Given the description of an element on the screen output the (x, y) to click on. 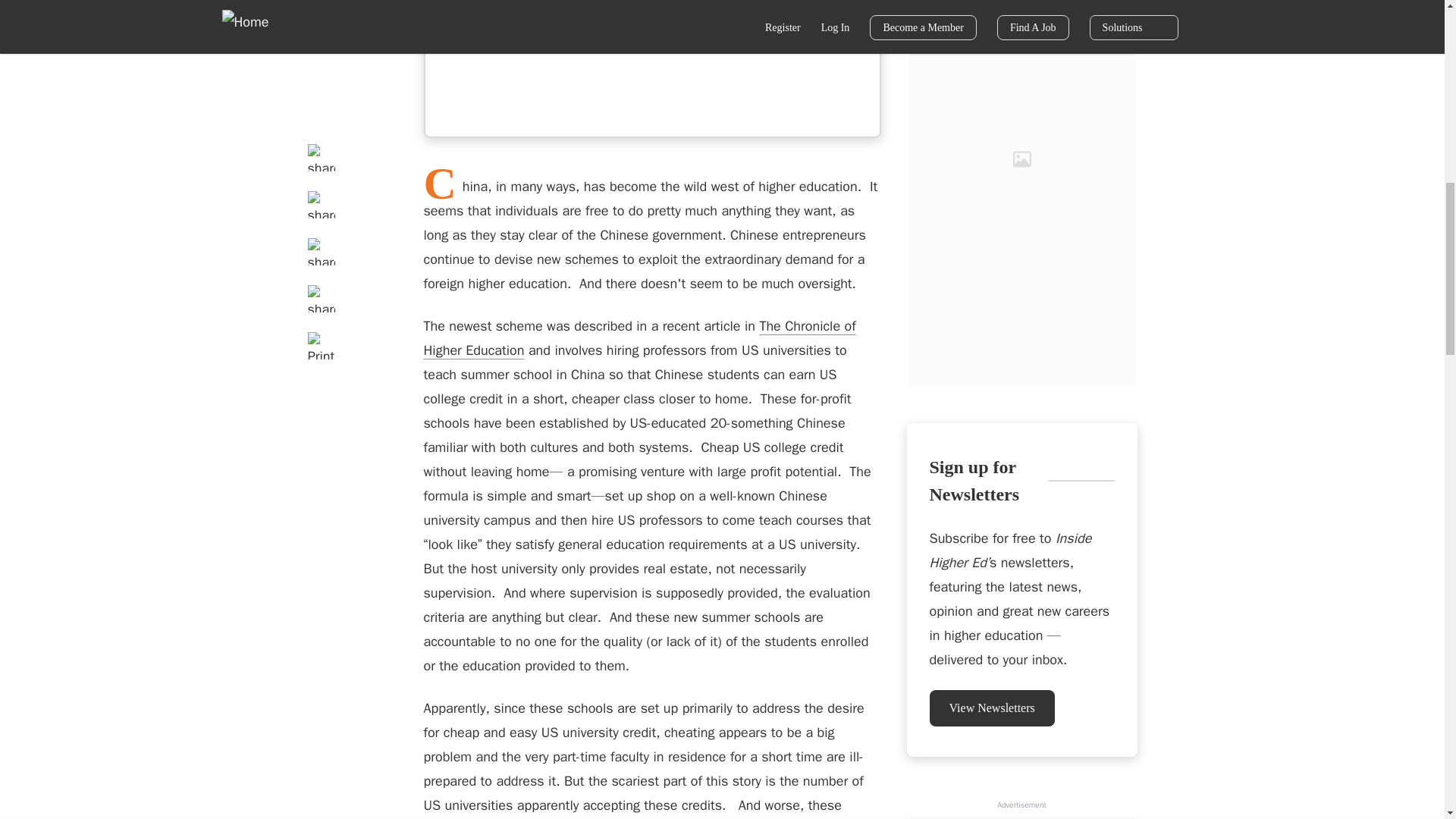
share by email (320, 62)
share to Linkedin (320, 14)
